Given the description of an element on the screen output the (x, y) to click on. 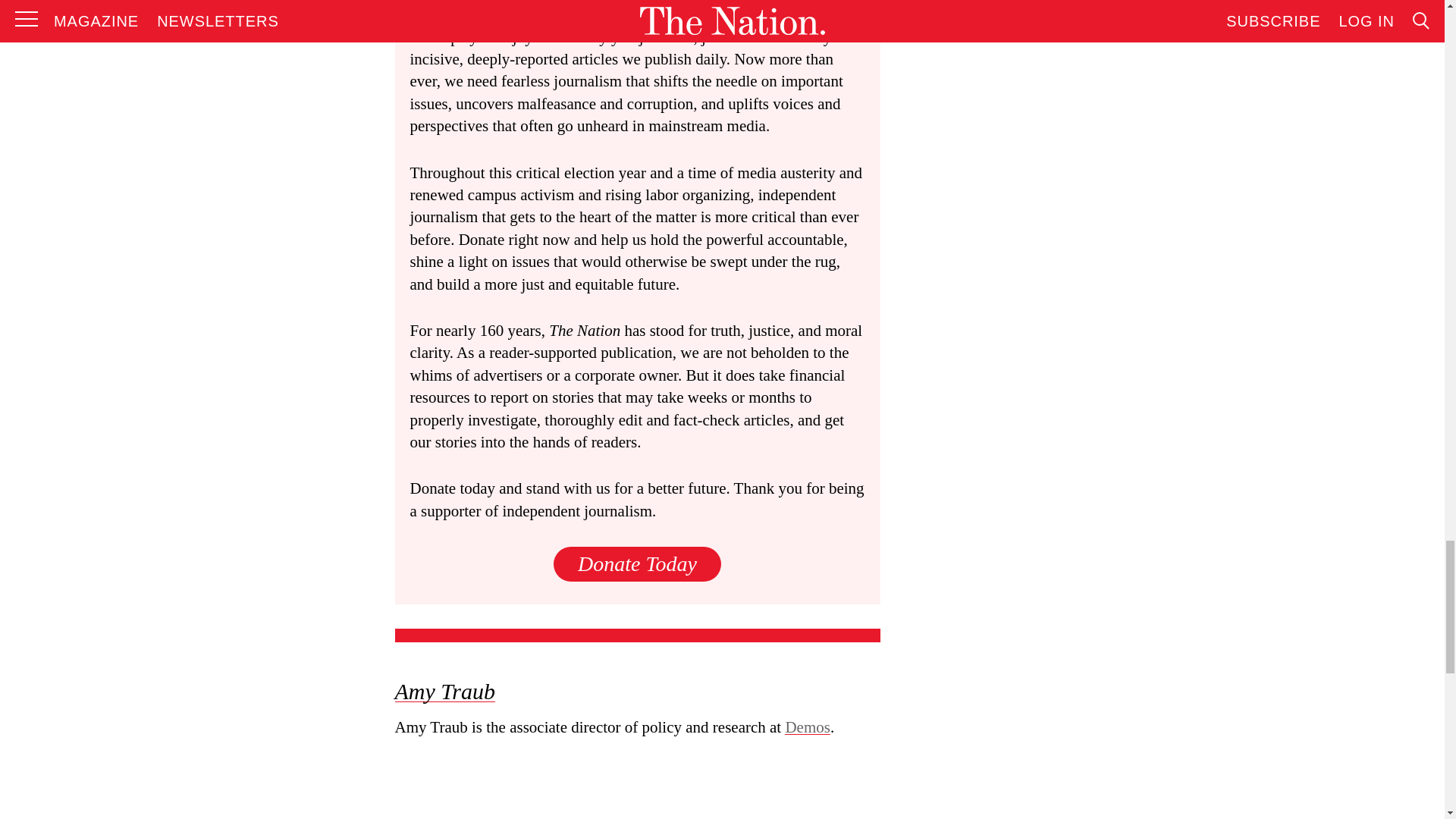
Donate Today (636, 563)
